Given the description of an element on the screen output the (x, y) to click on. 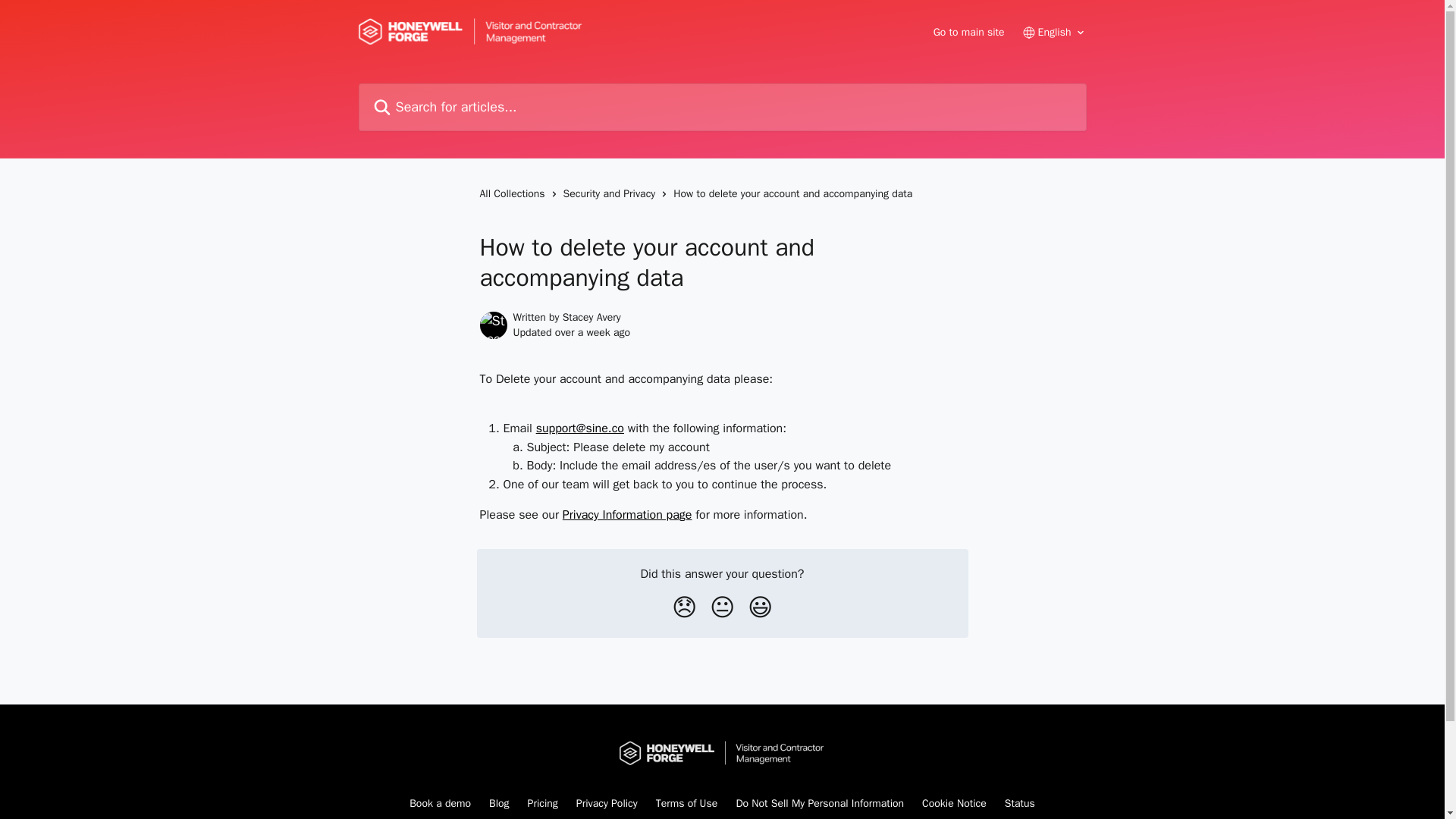
Security and Privacy (612, 193)
Privacy Policy (606, 802)
Pricing (542, 802)
Terms of Use (686, 802)
Privacy Information page (627, 514)
Do Not Sell My Personal Information (819, 802)
Status (1019, 802)
Blog (499, 802)
Go to main site (968, 32)
All Collections (514, 193)
Book a demo (439, 802)
Cookie Notice (954, 802)
